Given the description of an element on the screen output the (x, y) to click on. 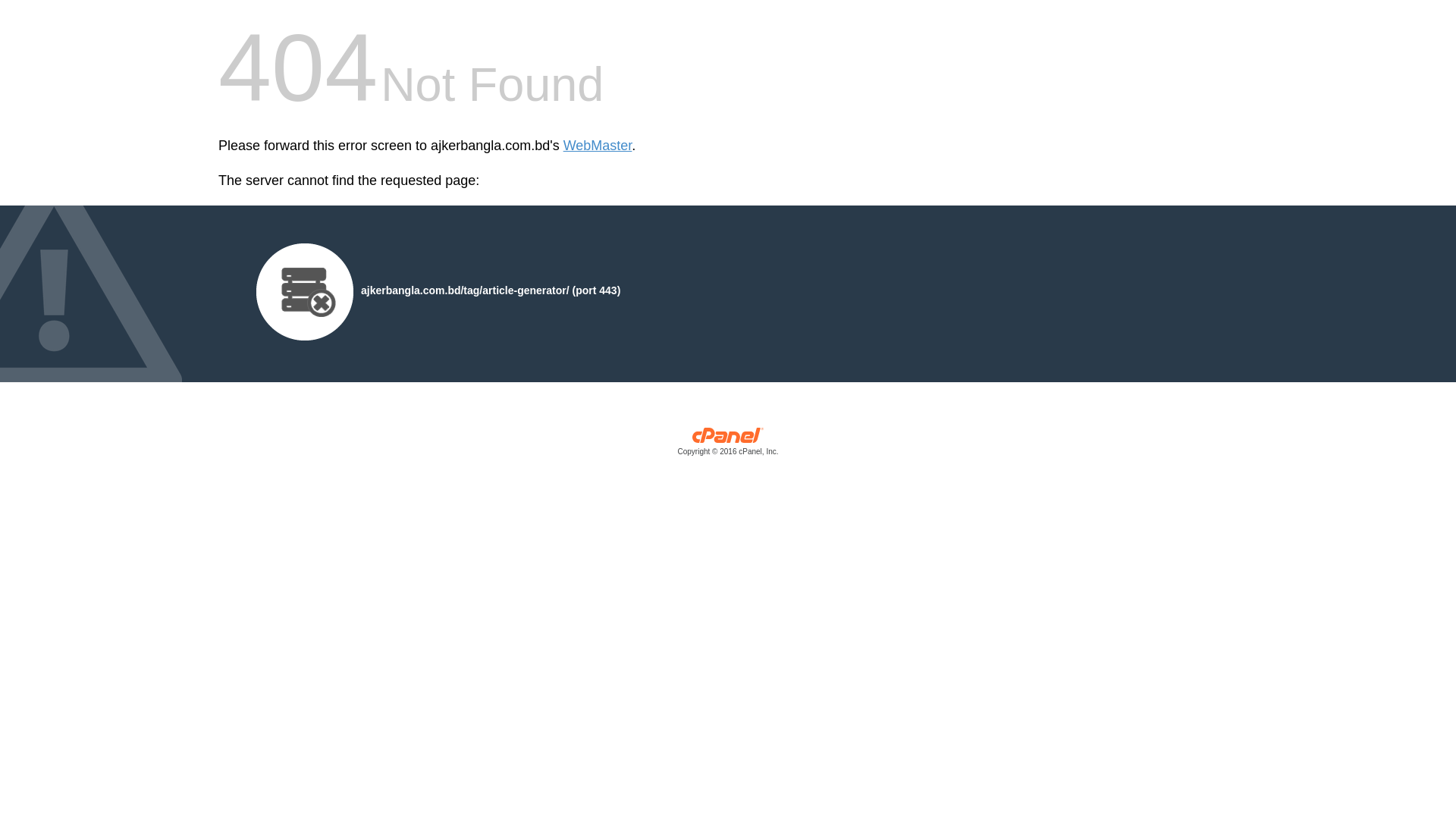
WebMaster Element type: text (597, 145)
